Given the description of an element on the screen output the (x, y) to click on. 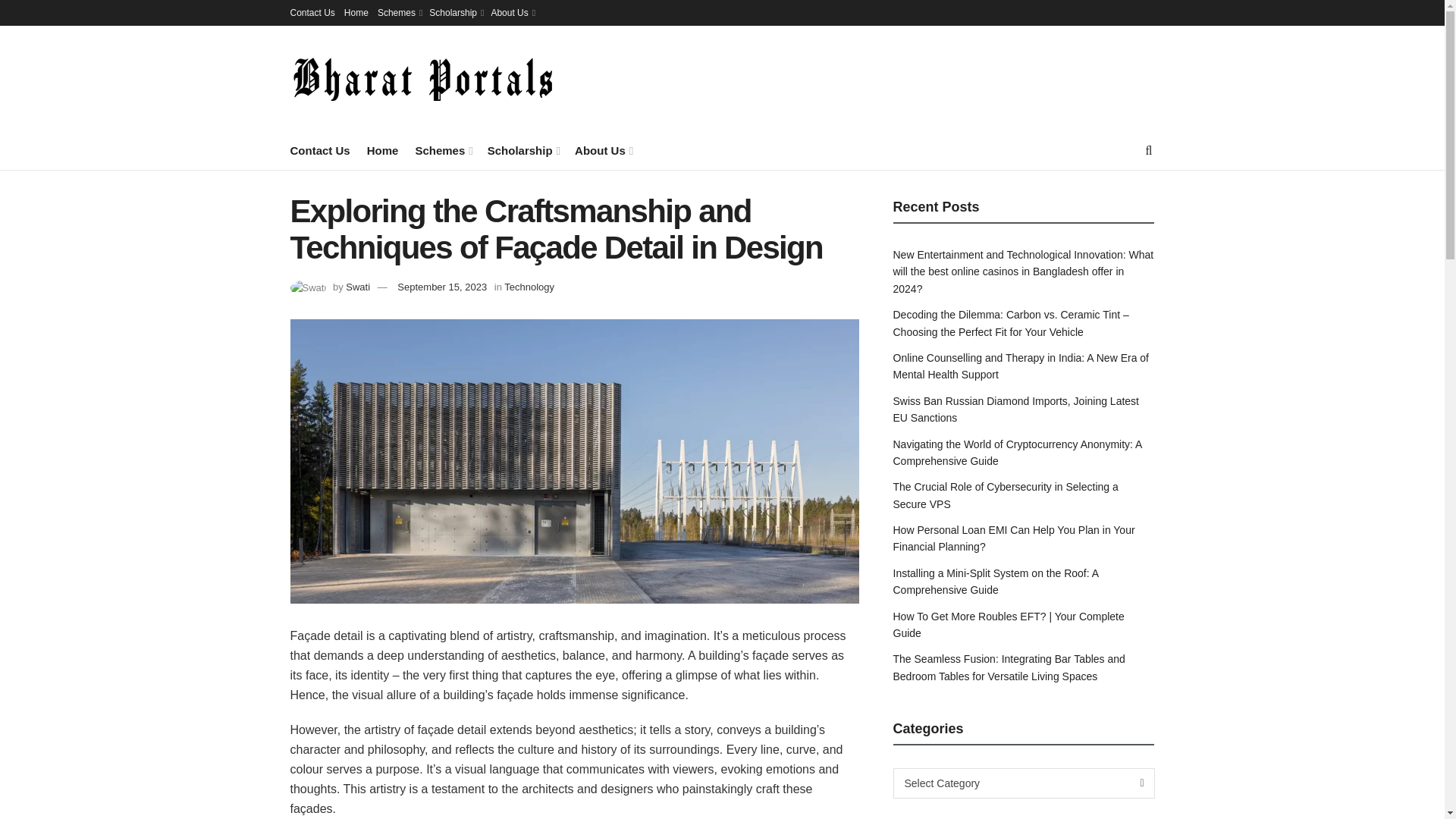
Schemes (398, 12)
Home (382, 150)
Home (355, 12)
About Us (511, 12)
Contact Us (319, 150)
Schemes (442, 150)
Scholarship (455, 12)
Contact Us (311, 12)
